Given the description of an element on the screen output the (x, y) to click on. 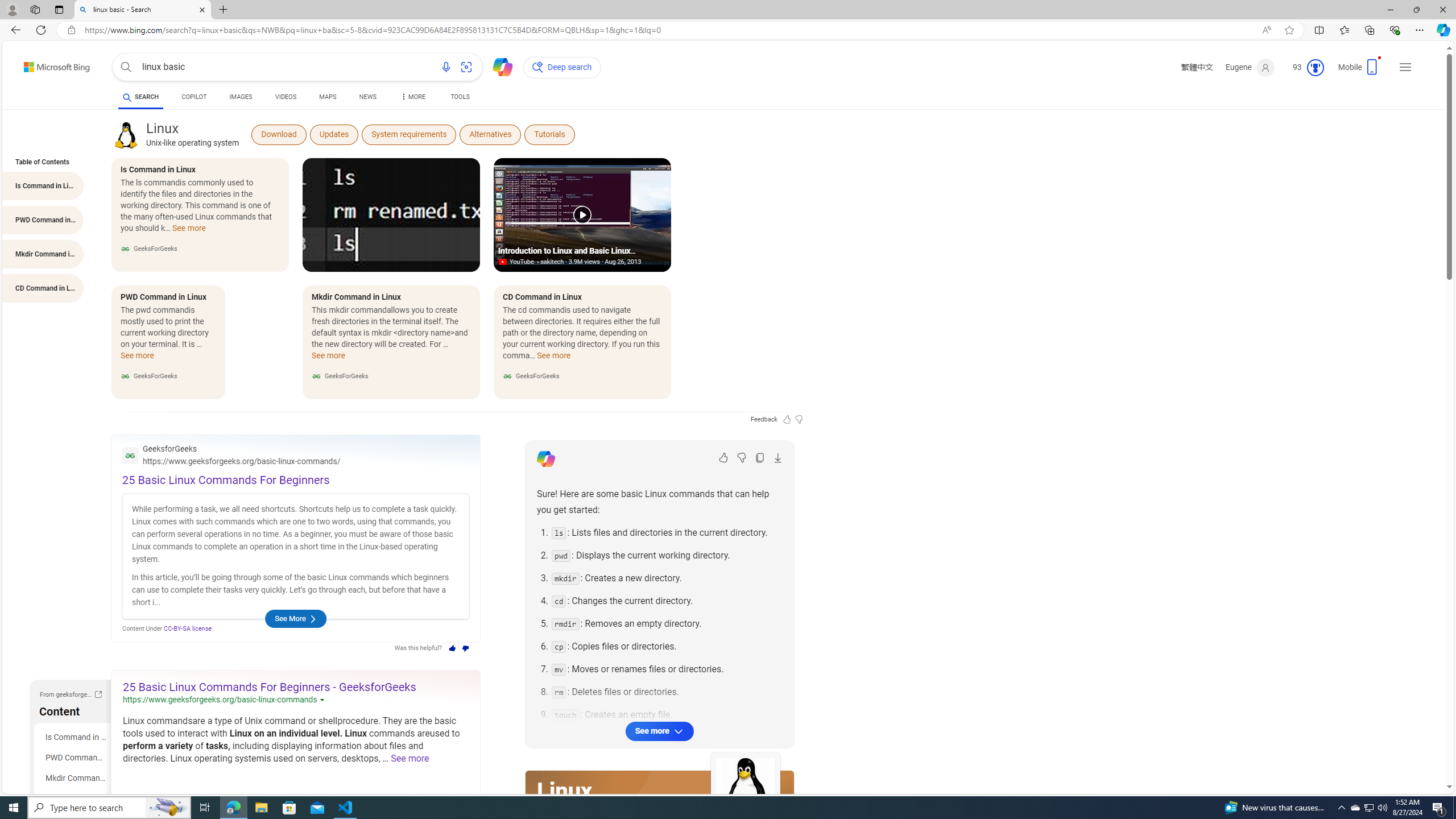
linux basic - Search (142, 9)
